Given the description of an element on the screen output the (x, y) to click on. 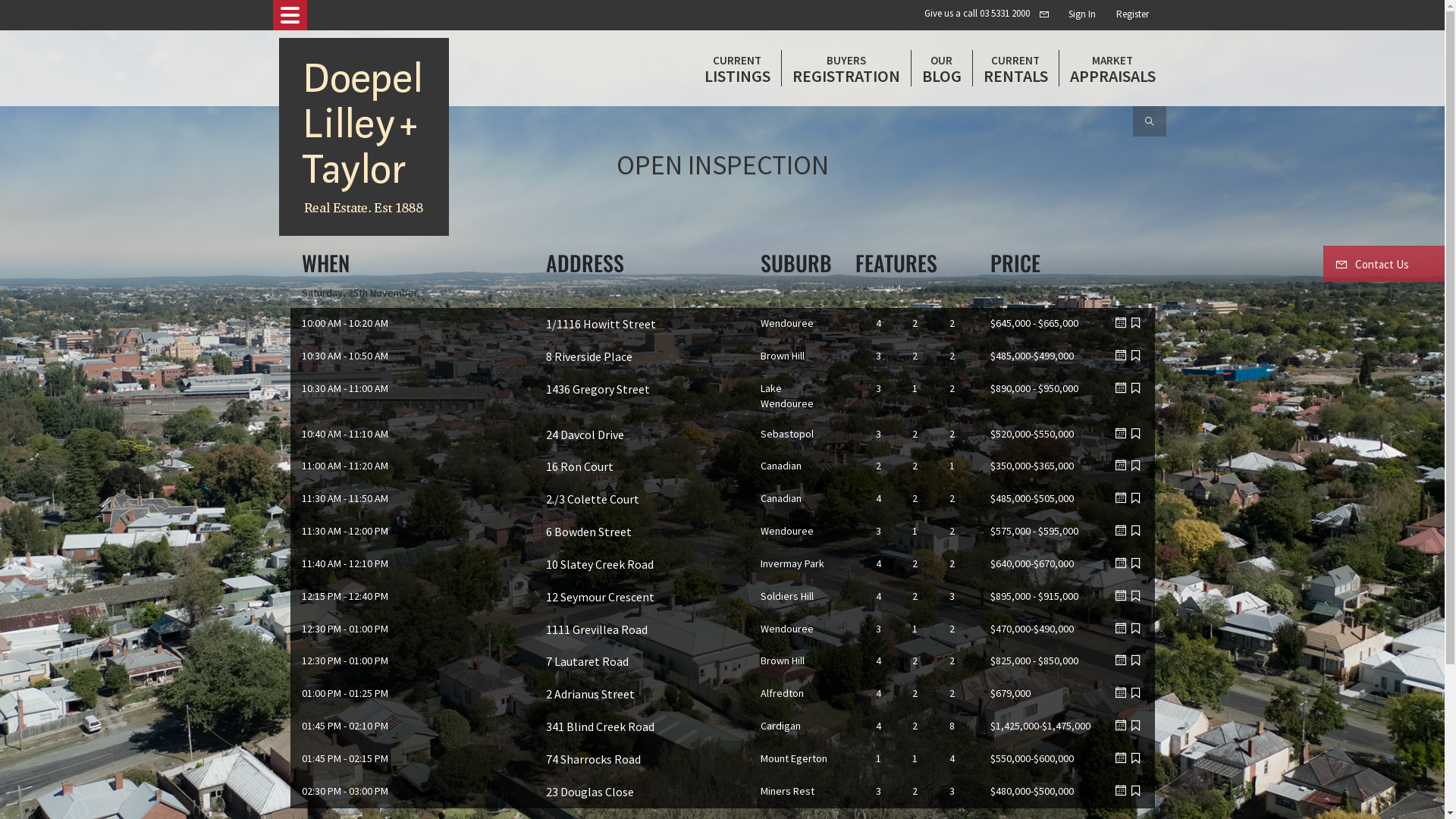
Add to Calendar Element type: hover (1120, 497)
2./3 Colette Court Element type: text (592, 498)
Contact Us Element type: text (1383, 263)
Add Favourites Element type: hover (1135, 660)
Add to Calendar Element type: hover (1120, 628)
6 Bowden Street Element type: text (588, 531)
Add to Calendar Element type: hover (1120, 387)
1111 Grevillea Road Element type: text (596, 629)
Add Favourites Element type: hover (1135, 595)
341 Blind Creek Road Element type: text (600, 726)
Lake Wendouree Element type: text (785, 395)
Add Favourites Element type: hover (1135, 790)
Cardigan Element type: text (779, 725)
Canadian Element type: text (779, 498)
Invermay Park Element type: text (791, 563)
Sign In Element type: text (1081, 14)
Add Favourites Element type: hover (1135, 530)
Mount Egerton Element type: text (792, 758)
Sebastopol Element type: text (785, 433)
Alfredton Element type: text (781, 692)
74 Sharrocks Road Element type: text (593, 758)
16 Ron Court Element type: text (579, 465)
Add to Calendar Element type: hover (1120, 692)
Brown Hill Element type: text (781, 660)
Add to Calendar Element type: hover (1120, 790)
MARKET
APPRAISALS Element type: text (1111, 68)
1/1116 Howitt Street Element type: text (600, 323)
Add Favourites Element type: hover (1135, 387)
Brown Hill Element type: text (781, 355)
Miners Rest Element type: text (786, 790)
Add Favourites Element type: hover (1135, 725)
? Element type: text (1156, 14)
Add to Calendar Element type: hover (1120, 433)
Wendouree Element type: text (785, 322)
CURRENT
RENTALS Element type: text (1014, 68)
1436 Gregory Street Element type: text (597, 388)
Add to Calendar Element type: hover (1120, 465)
Add to Calendar Element type: hover (1120, 355)
Add Favourites Element type: hover (1135, 563)
7 Lautaret Road Element type: text (587, 660)
Soldiers Hill Element type: text (785, 595)
CURRENT
LISTINGS Element type: text (736, 68)
Add to Calendar Element type: hover (1120, 660)
Add Favourites Element type: hover (1135, 322)
10 Slatey Creek Road Element type: text (599, 563)
Register Element type: text (1131, 14)
Wendouree Element type: text (785, 628)
OUR
BLOG Element type: text (941, 68)
Add Favourites Element type: hover (1135, 355)
Wendouree Element type: text (785, 530)
Add Favourites Element type: hover (1135, 757)
Add Favourites Element type: hover (1135, 692)
Add Favourites Element type: hover (1135, 433)
Add to Calendar Element type: hover (1120, 595)
Canadian Element type: text (779, 465)
Add to Calendar Element type: hover (1120, 757)
12 Seymour Crescent Element type: text (600, 596)
Login Element type: text (1124, 14)
24 Davcol Drive Element type: text (585, 434)
Add to Calendar Element type: hover (1120, 530)
BUYERS
REGISTRATION Element type: text (845, 68)
2 Adrianus Street Element type: text (590, 693)
Add to Calendar Element type: hover (1120, 322)
Add to Calendar Element type: hover (1120, 563)
Add Favourites Element type: hover (1135, 497)
Give us a call 03 5331 2000 Element type: text (976, 13)
Add Favourites Element type: hover (1135, 628)
Add to Calendar Element type: hover (1120, 725)
23 Douglas Close Element type: text (589, 791)
8 Riverside Place Element type: text (589, 356)
Add Favourites Element type: hover (1135, 465)
